Given the description of an element on the screen output the (x, y) to click on. 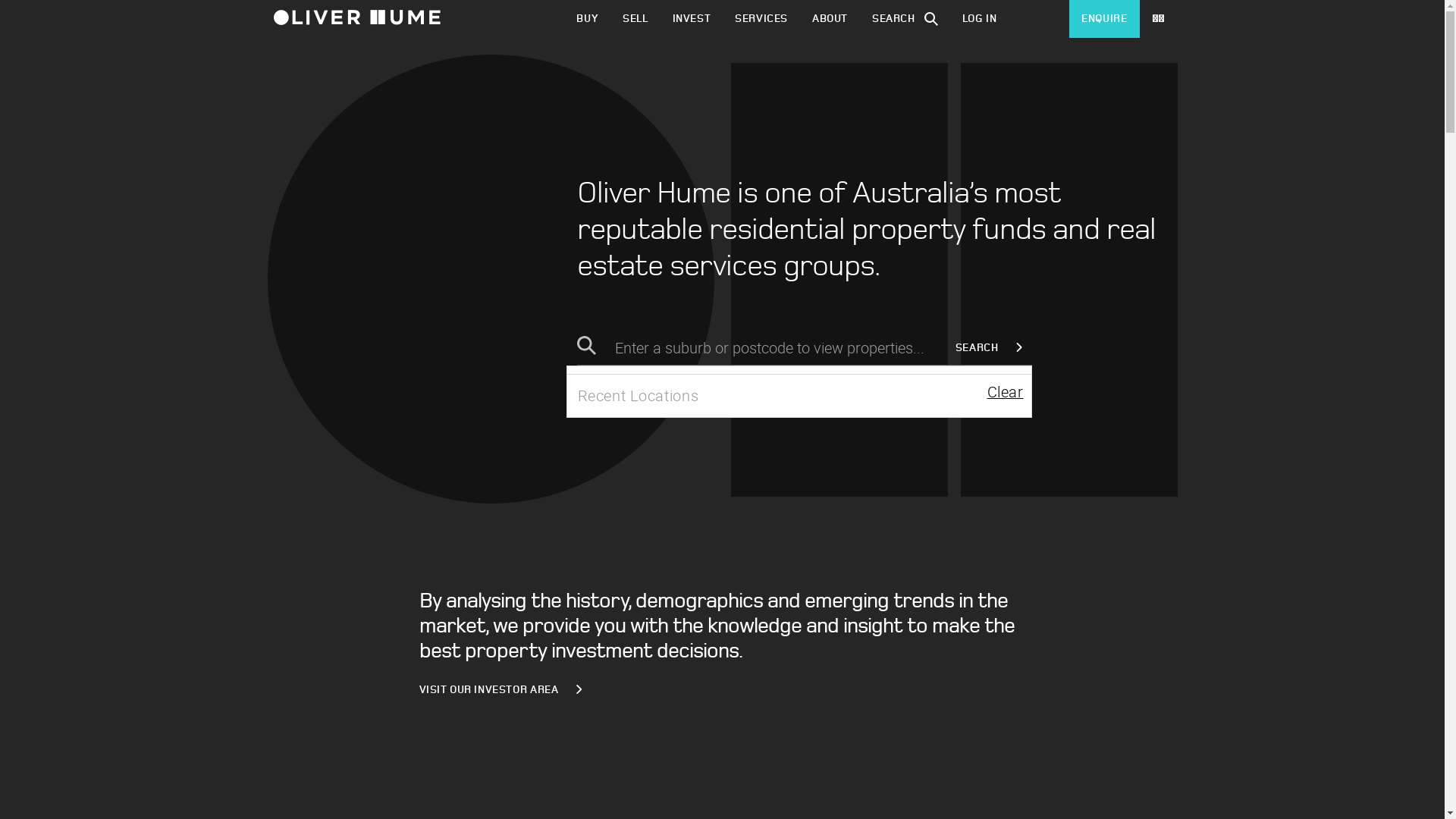
Clear Element type: text (1005, 391)
VISIT OUR INVESTOR AREA Element type: text (504, 689)
SEARCH Element type: text (993, 347)
LOG IN Element type: text (979, 18)
ENQUIRE Element type: text (1104, 18)
